Given the description of an element on the screen output the (x, y) to click on. 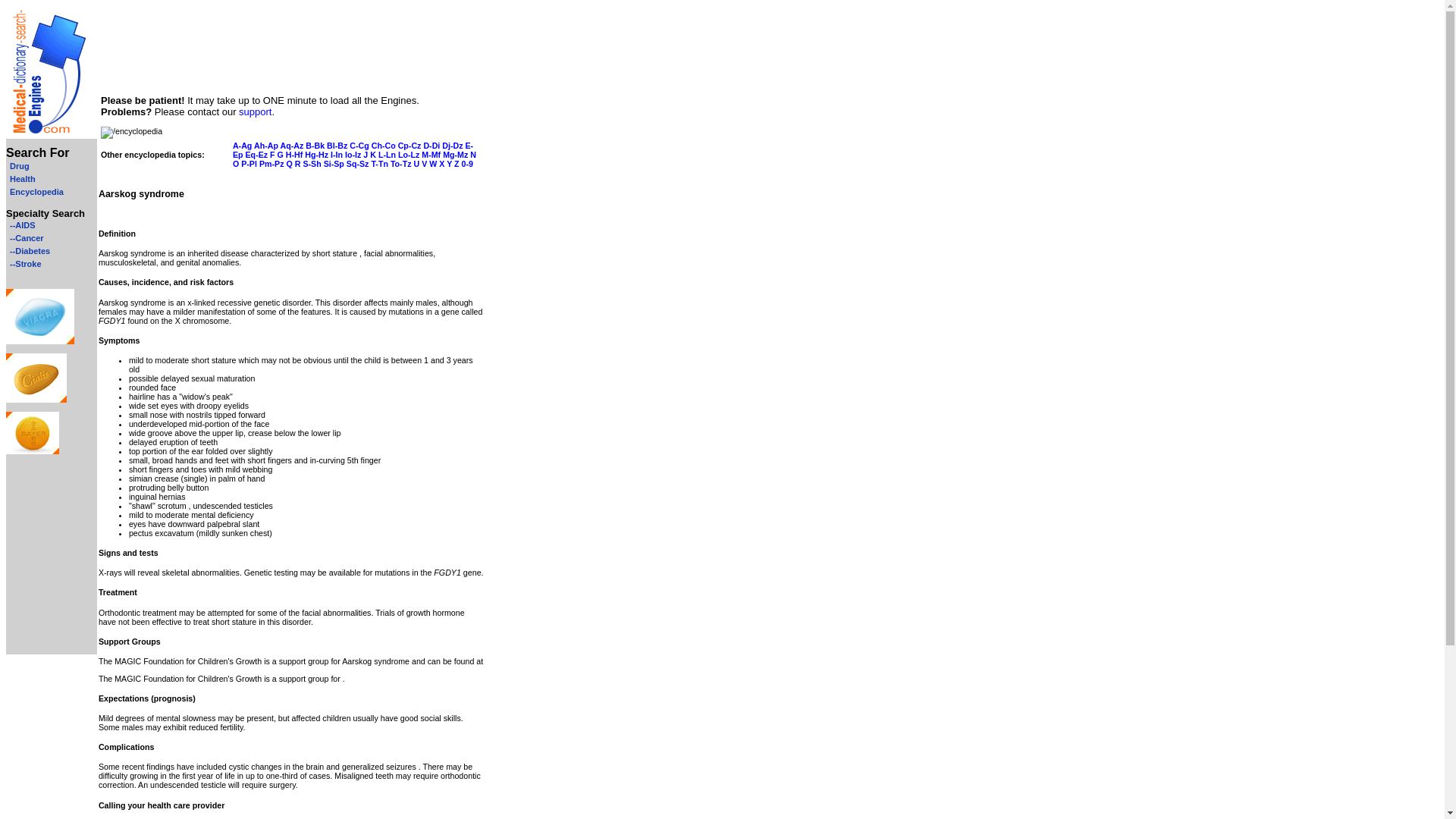
L-Ln (387, 153)
Ch-Co (383, 144)
P-Pl (249, 163)
A-Ag (241, 144)
support (254, 111)
Levitra (32, 450)
--AIDS (19, 225)
--Cancer (24, 237)
Eq-Ez (256, 153)
M-Mf (431, 153)
E-Ep (352, 149)
Encyclopedia (34, 191)
Mg-Mz (454, 153)
Hg-Hz (316, 153)
Pm-Pz (271, 163)
